Given the description of an element on the screen output the (x, y) to click on. 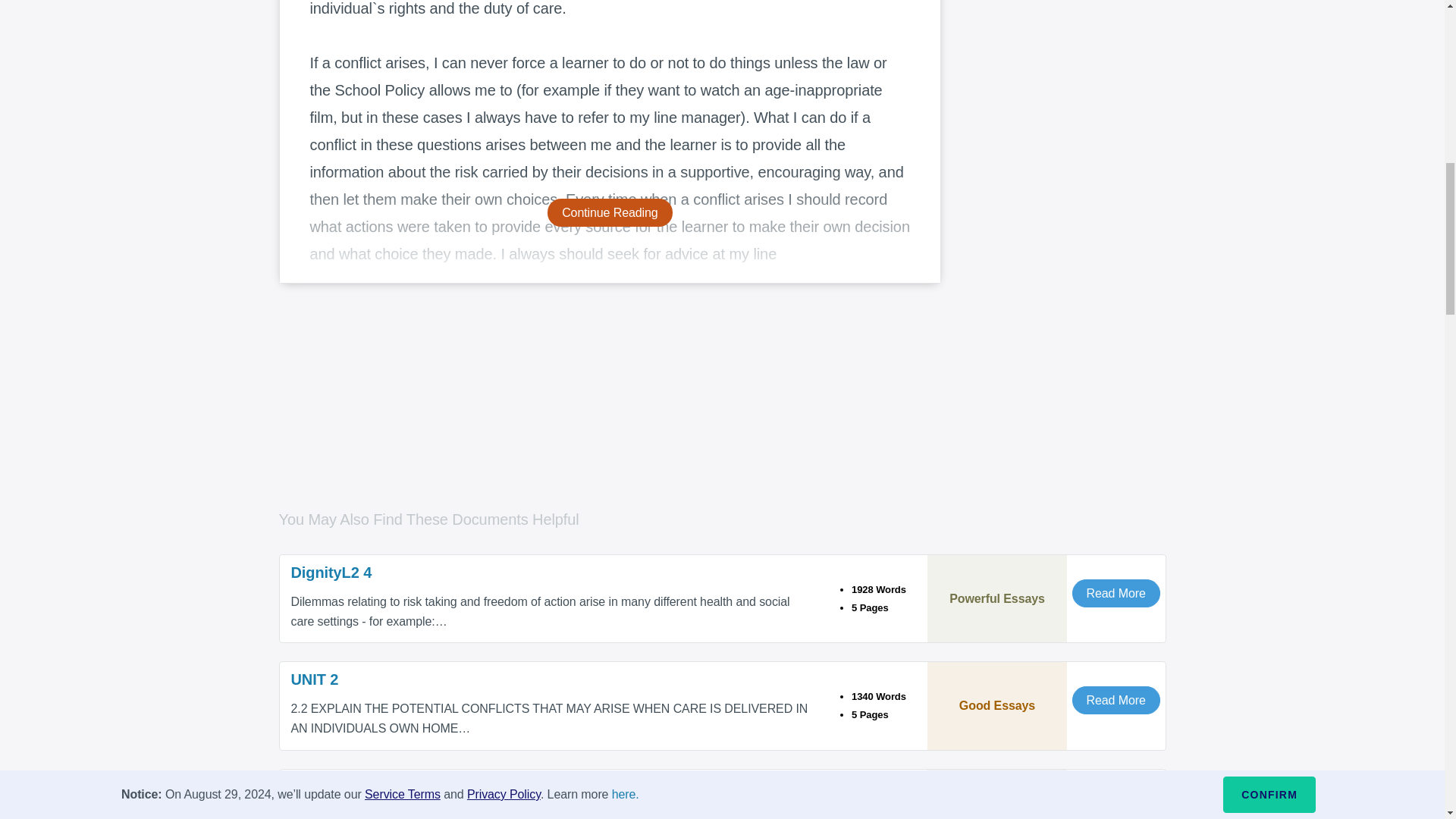
Read More (1115, 811)
DignityL2 4 (553, 572)
Read More (1115, 700)
UNIT 2 (553, 679)
Read More (1115, 593)
Continue Reading (609, 212)
